Given the description of an element on the screen output the (x, y) to click on. 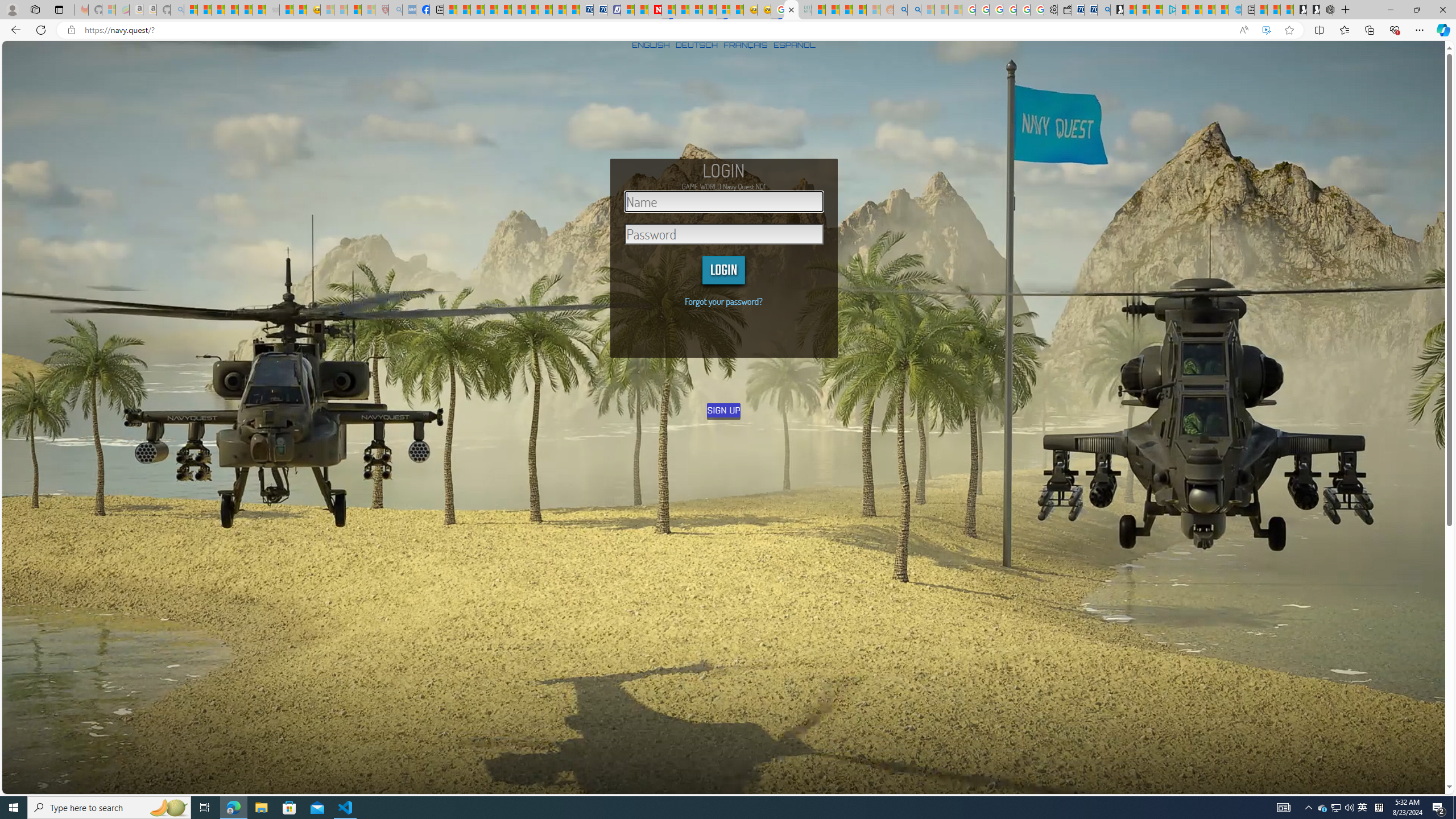
New Report Confirms 2023 Was Record Hot | Watch (245, 9)
Forgot your password? (723, 301)
12 Popular Science Lies that Must be Corrected - Sleeping (368, 9)
